Given the description of an element on the screen output the (x, y) to click on. 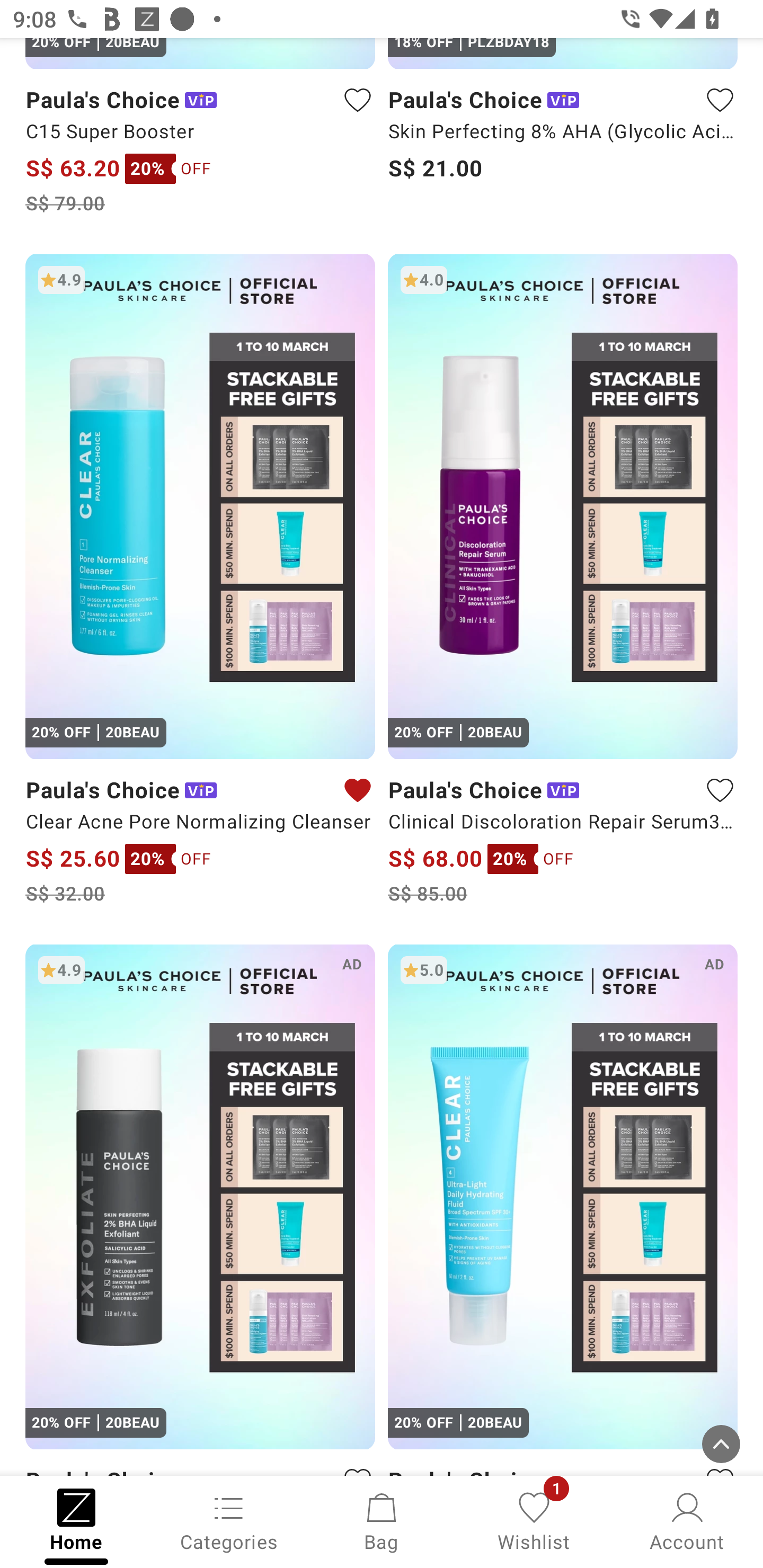
Categories (228, 1519)
Bag (381, 1519)
Wishlist, 1 new notification Wishlist (533, 1519)
Account (686, 1519)
